Given the description of an element on the screen output the (x, y) to click on. 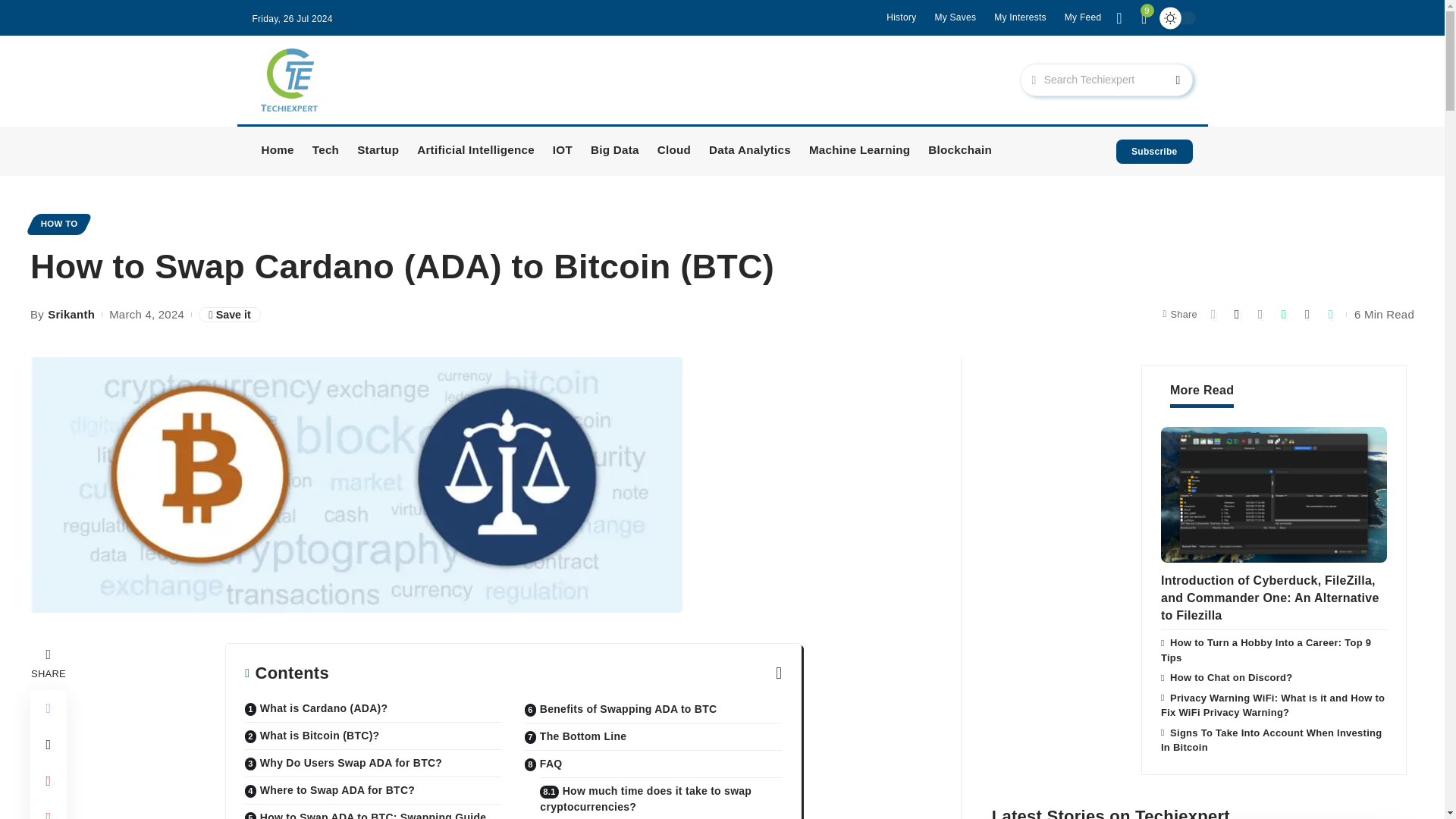
Search (1164, 80)
IOT (561, 151)
My Saves (954, 17)
My Interests (1020, 17)
Tech (324, 151)
Artificial Intelligence (475, 151)
My Feed (1083, 17)
History (900, 17)
Startup (377, 151)
Advertisement (673, 79)
Home (276, 151)
